Given the description of an element on the screen output the (x, y) to click on. 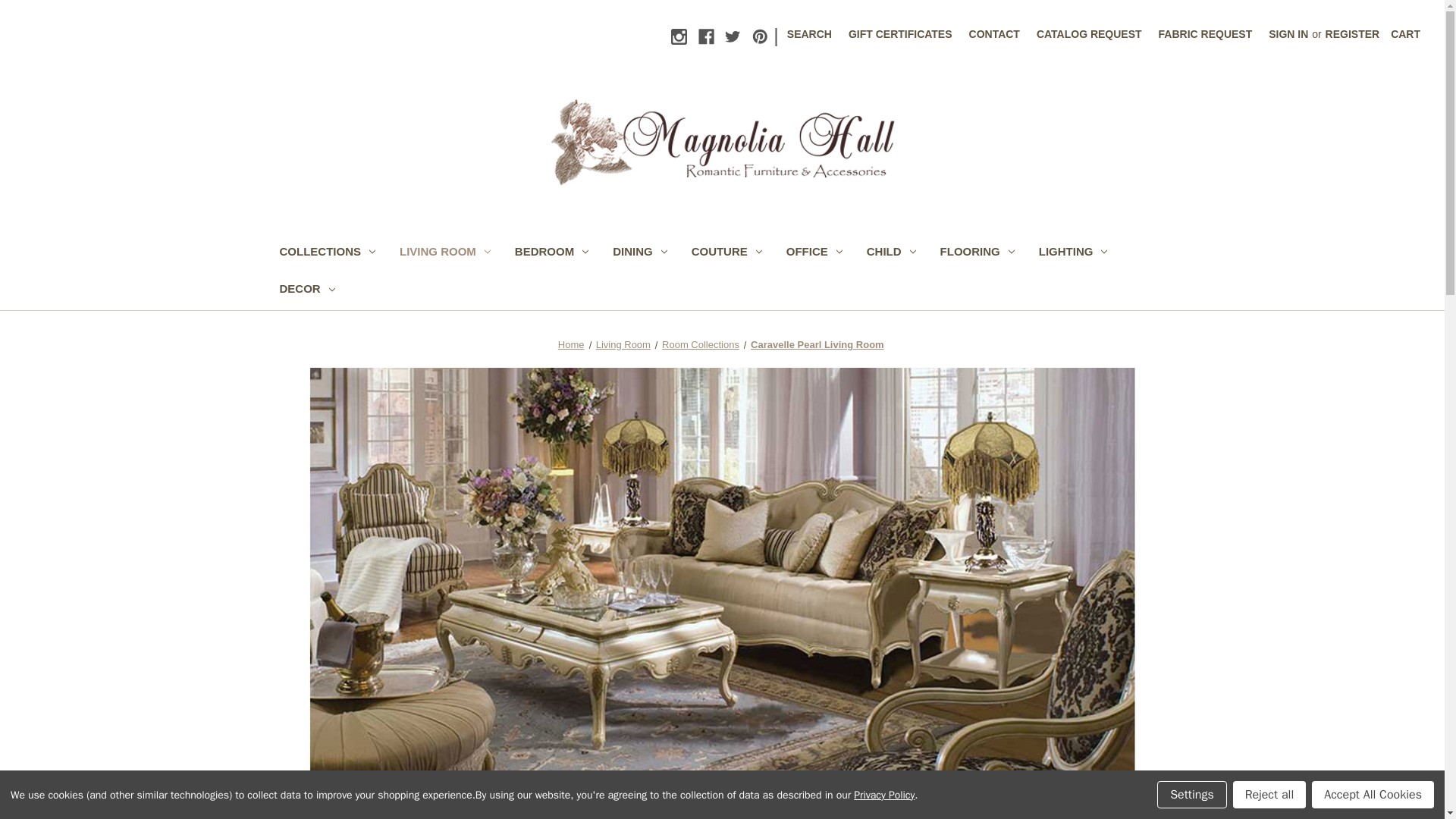
CATALOG REQUEST (1088, 34)
SIGN IN (1288, 34)
Pinterest (760, 36)
GIFT CERTIFICATES (900, 34)
REGISTER (1353, 34)
CONTACT (993, 34)
Facebook (706, 36)
Magnolia Hall (722, 142)
CART (1404, 34)
FABRIC REQUEST (1205, 34)
SEARCH (809, 34)
Instagram (679, 36)
Twitter (733, 36)
COLLECTIONS (326, 253)
